Given the description of an element on the screen output the (x, y) to click on. 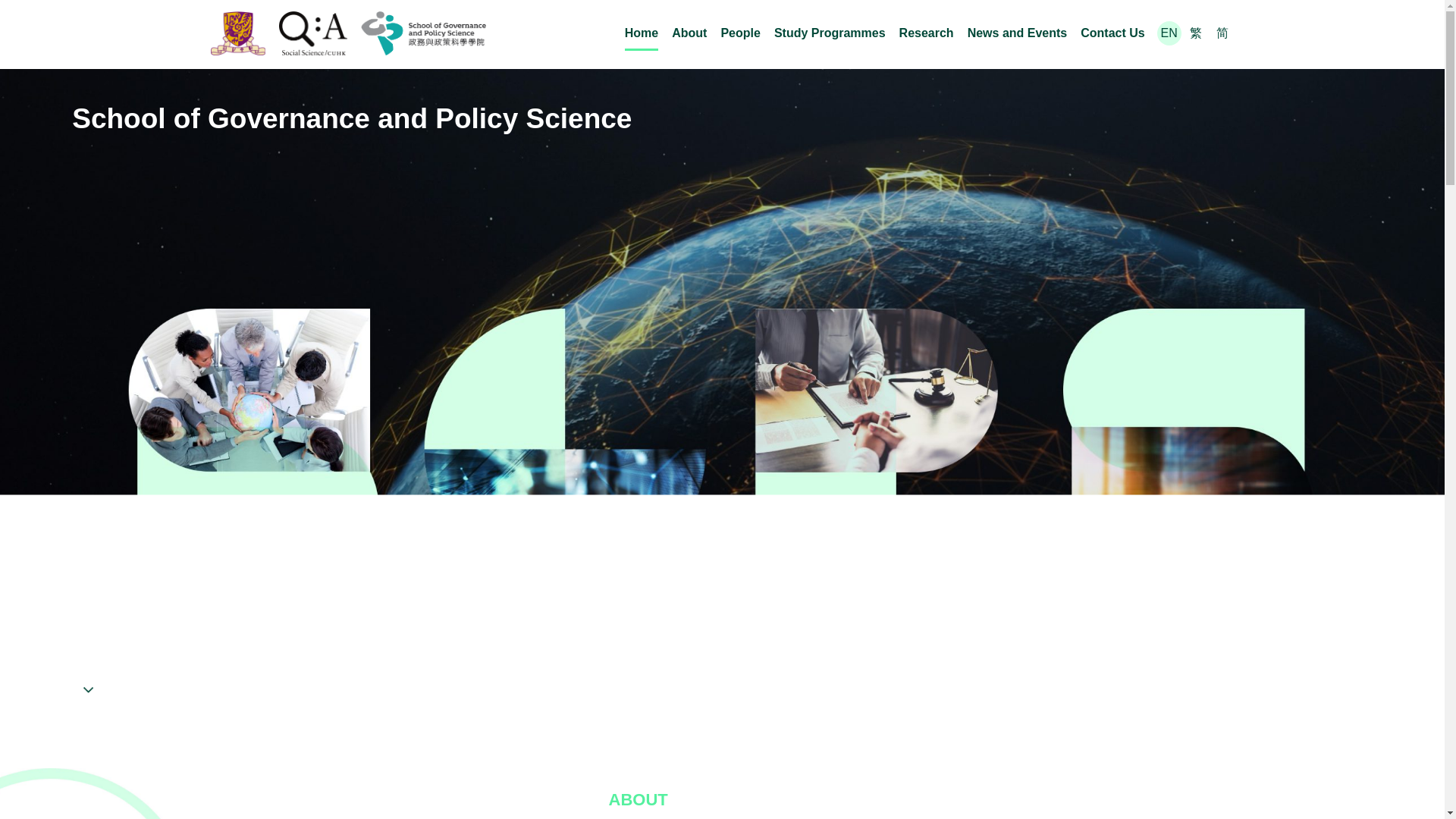
Study Programmes (829, 33)
Scroll Down (120, 681)
EN (1168, 32)
About (688, 33)
Scroll Down (120, 681)
People (740, 33)
News and Events (1017, 33)
Contact Us (1112, 33)
Research (926, 33)
Home (641, 33)
